Given the description of an element on the screen output the (x, y) to click on. 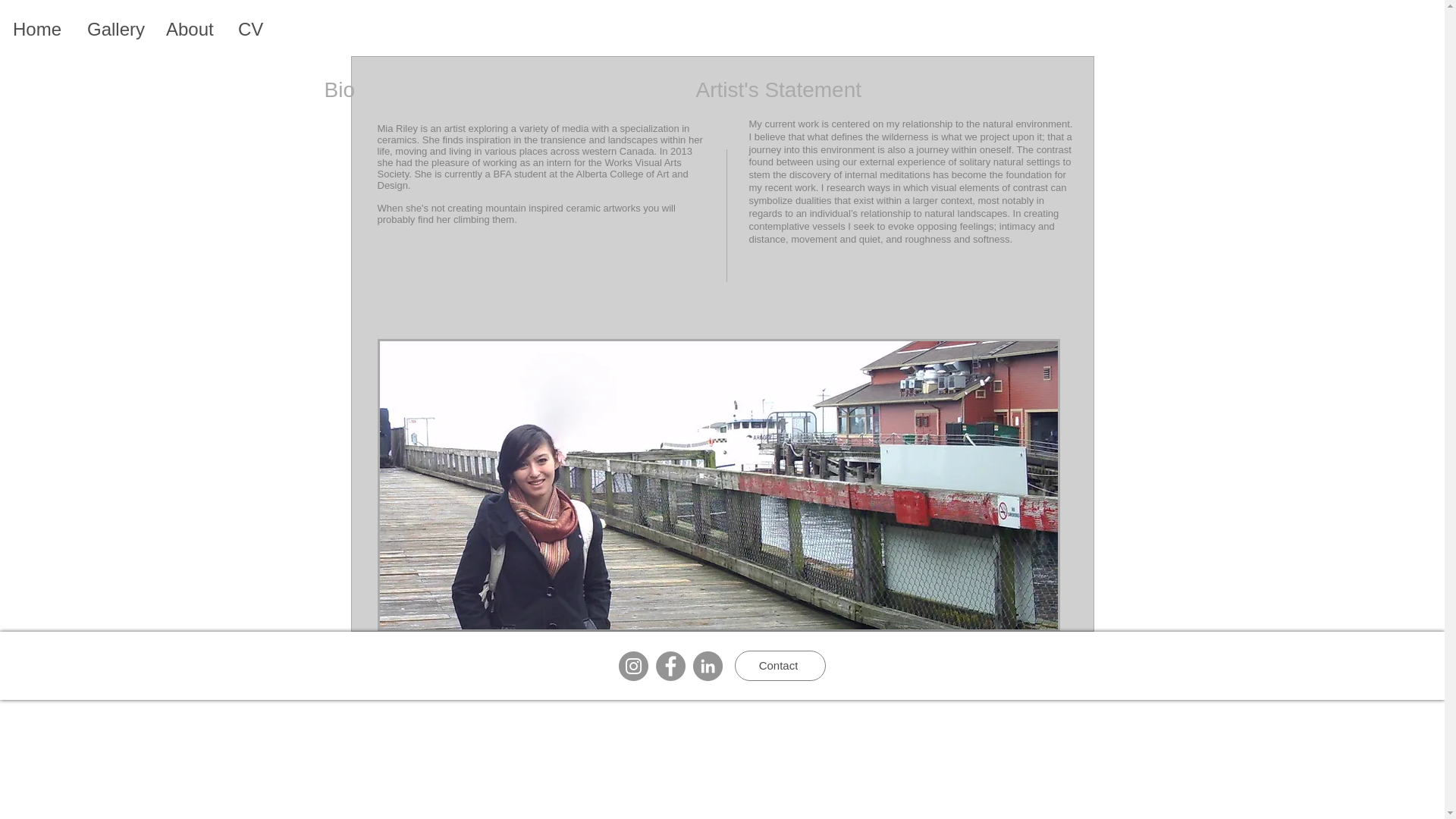
Home (37, 28)
CV (249, 28)
About (188, 28)
Gallery (113, 28)
Contact (779, 665)
